Given the description of an element on the screen output the (x, y) to click on. 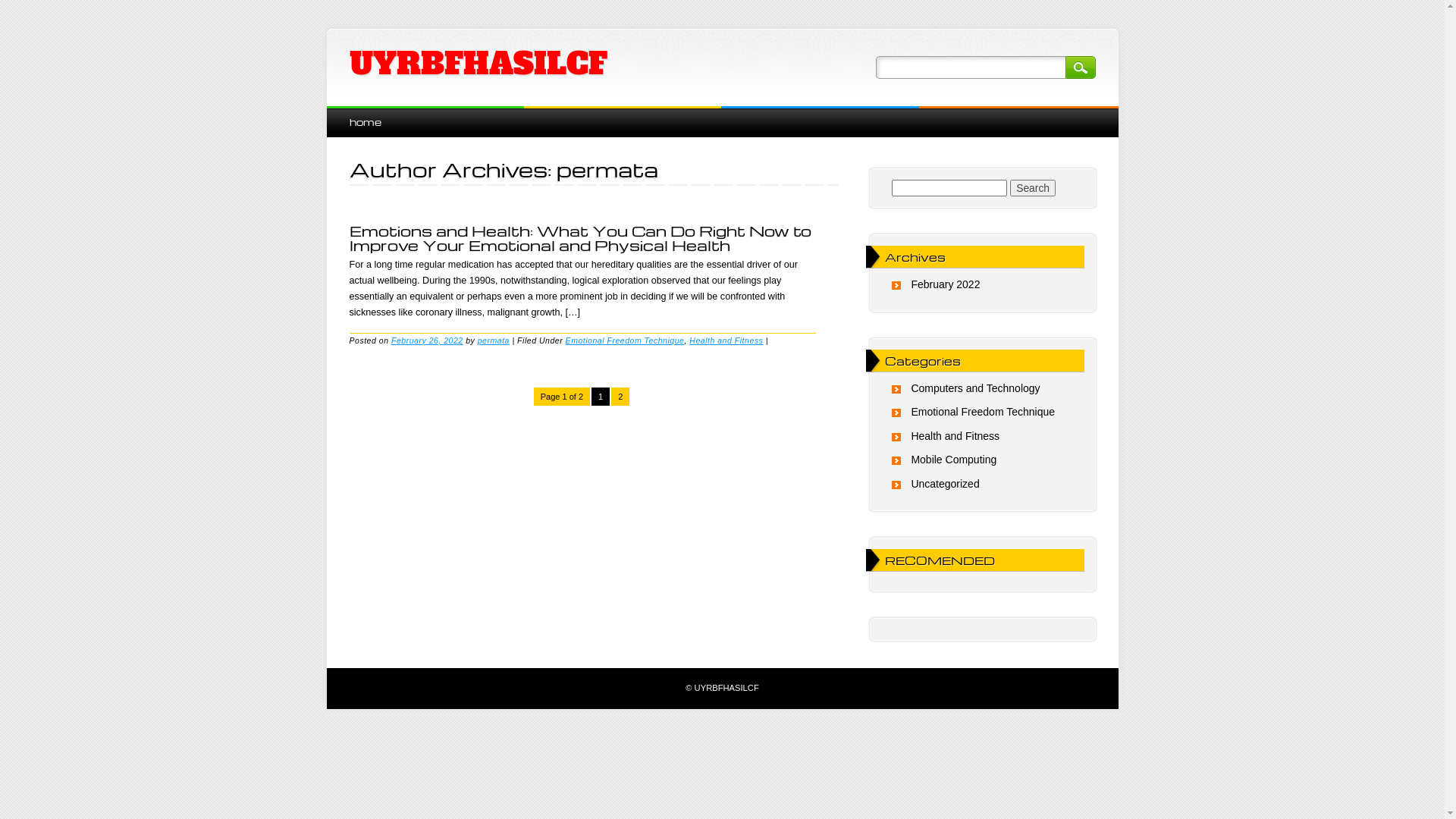
home Element type: text (364, 121)
Search Element type: text (1079, 67)
Skip to content Element type: text (361, 113)
permata Element type: text (607, 168)
Emotional Freedom Technique Element type: text (624, 339)
Emotional Freedom Technique Element type: text (982, 411)
Health and Fitness Element type: text (954, 435)
Health and Fitness Element type: text (725, 339)
2 Element type: text (620, 396)
February 2022 Element type: text (944, 284)
February 26, 2022 Element type: text (427, 339)
permata Element type: text (493, 339)
Uncategorized Element type: text (944, 483)
Search Element type: text (1032, 187)
UYRBFHASILCF Element type: text (477, 63)
Computers and Technology Element type: text (974, 388)
Mobile Computing Element type: text (953, 459)
